Given the description of an element on the screen output the (x, y) to click on. 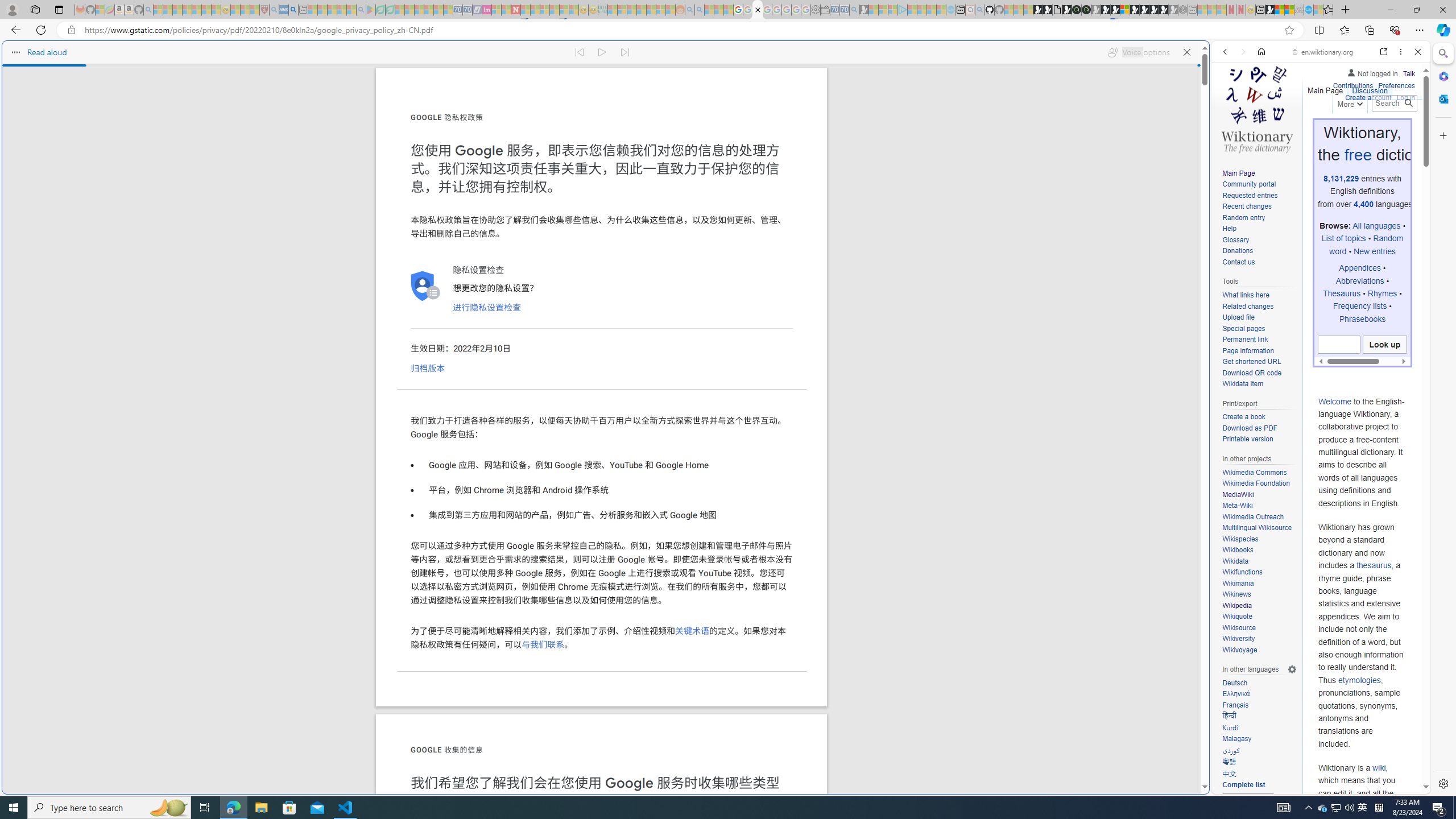
thesaurus (1373, 565)
Kinda Frugal - MSN - Sleeping (651, 9)
Wikidata (1259, 561)
Wiktionary (1315, 380)
Malagasy (1236, 738)
SEARCH TOOLS (1350, 130)
Global web icon (1232, 786)
MediaWiki (1259, 494)
Preferences (1396, 85)
wiki (1378, 768)
